Given the description of an element on the screen output the (x, y) to click on. 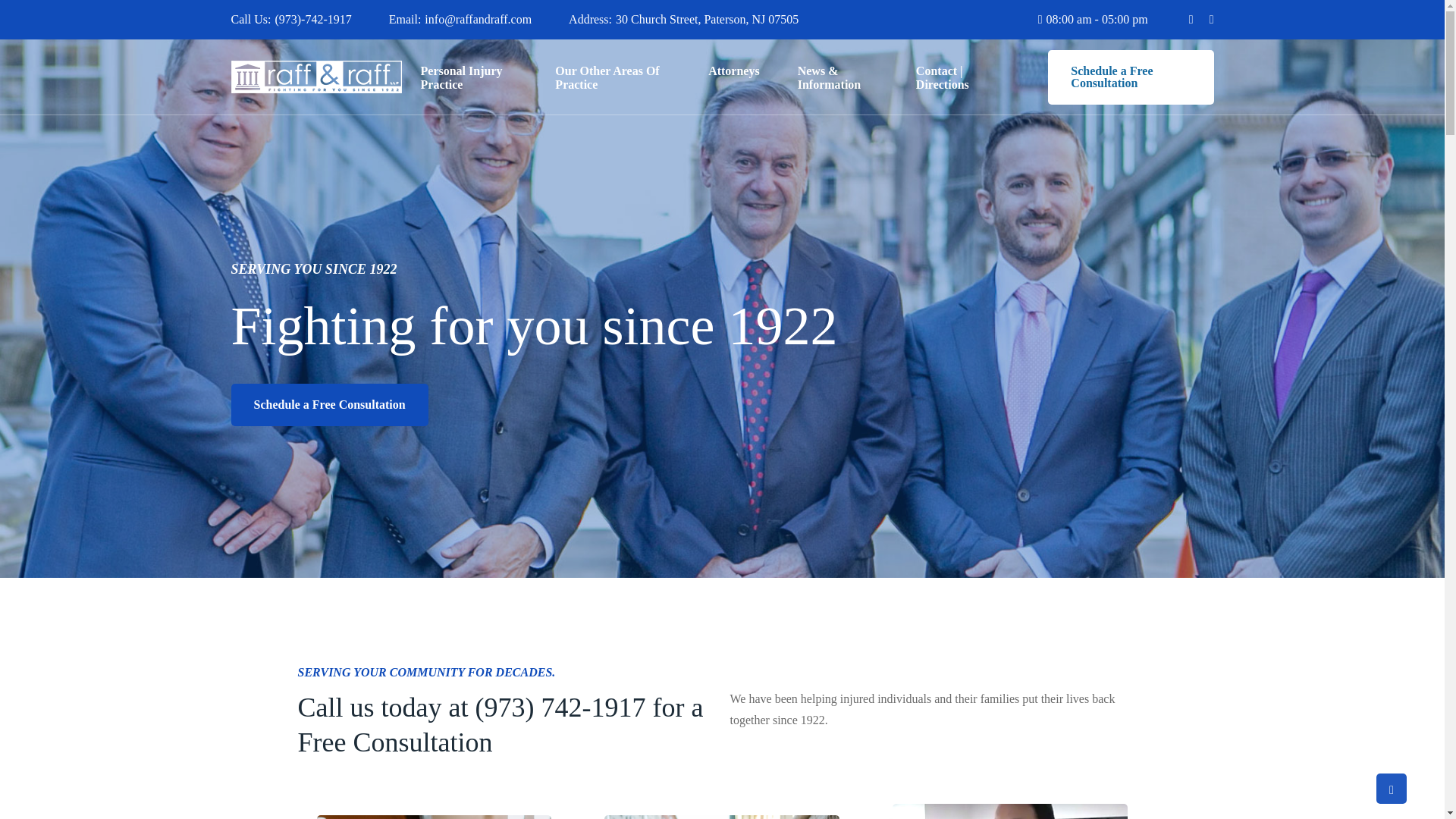
Our Other Areas Of Practice (611, 76)
Personal Injury Practice (469, 76)
